Given the description of an element on the screen output the (x, y) to click on. 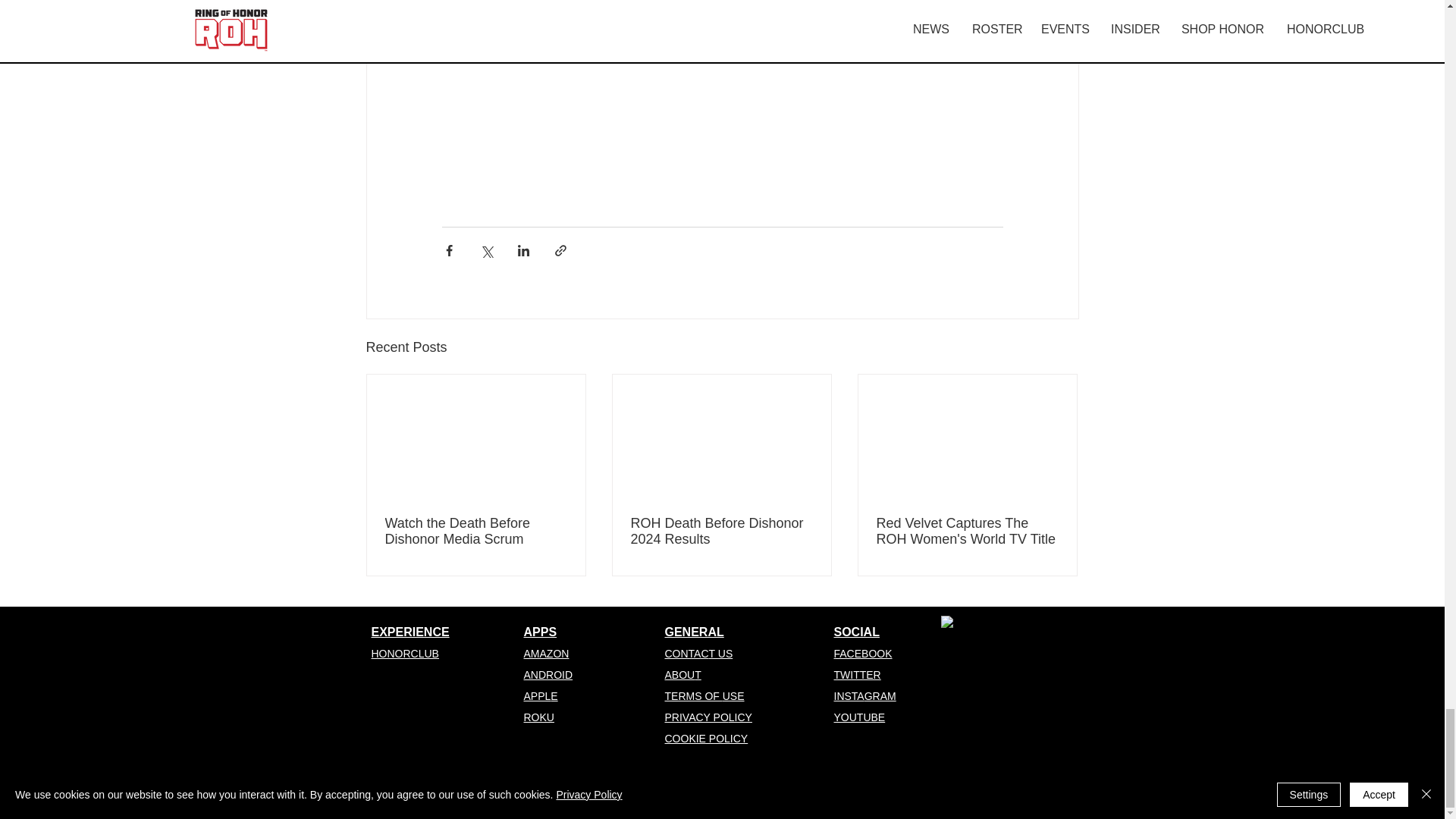
ABOUT (681, 674)
CONTACT US (697, 653)
YOUTUBE (859, 717)
ROKU (537, 717)
Red Velvet Captures The ROH Women's World TV Title (967, 531)
TWITTER (857, 674)
HONORCLUB (405, 653)
AMAZON (545, 653)
INSTAGRAM (865, 695)
ANDROID (547, 674)
ROH Death Before Dishonor 2024 Results (721, 531)
Watch the Death Before Dishonor Media Scrum (476, 531)
FACEBOOK (863, 653)
TERMS OF USE (703, 695)
APPLE (539, 695)
